Given the description of an element on the screen output the (x, y) to click on. 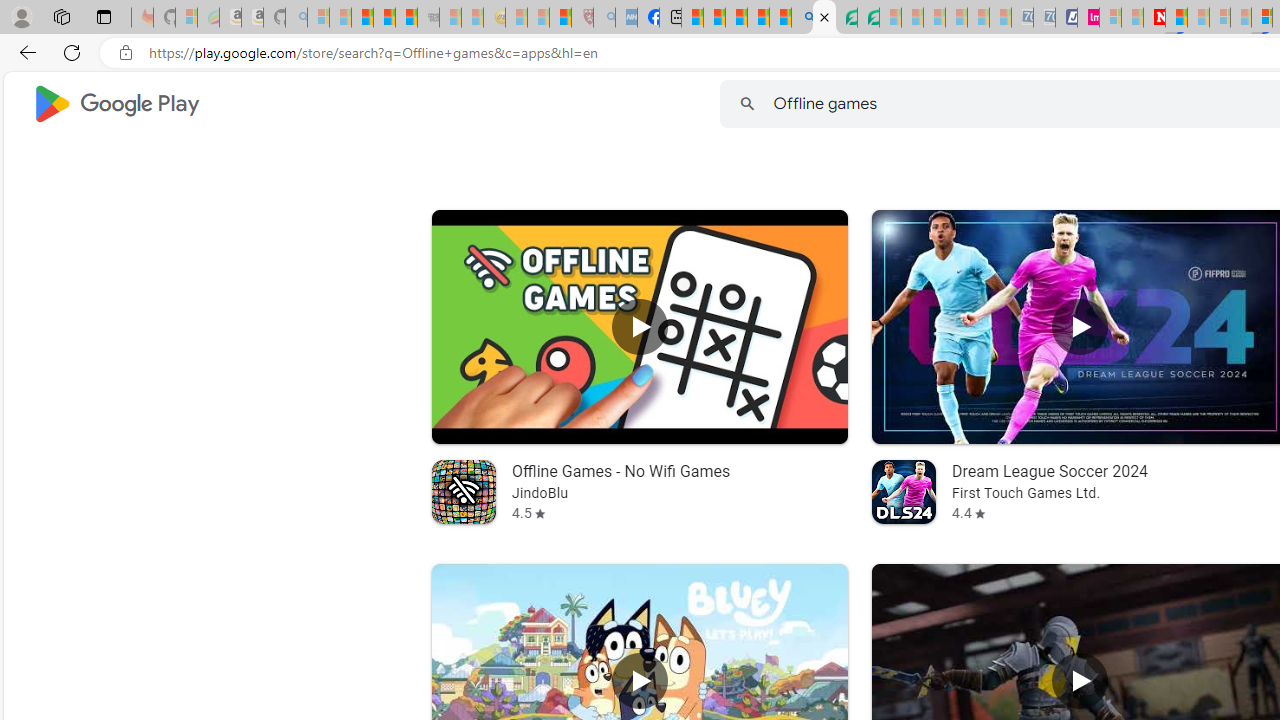
Microsoft account | Privacy - Sleeping (1110, 17)
Workspaces (61, 16)
Play Offline Games - No Wifi Games (638, 326)
Local - MSN (560, 17)
View site information (125, 53)
Pets - MSN (758, 17)
NCL Adult Asthma Inhaler Choice Guideline - Sleeping (626, 17)
